Given the description of an element on the screen output the (x, y) to click on. 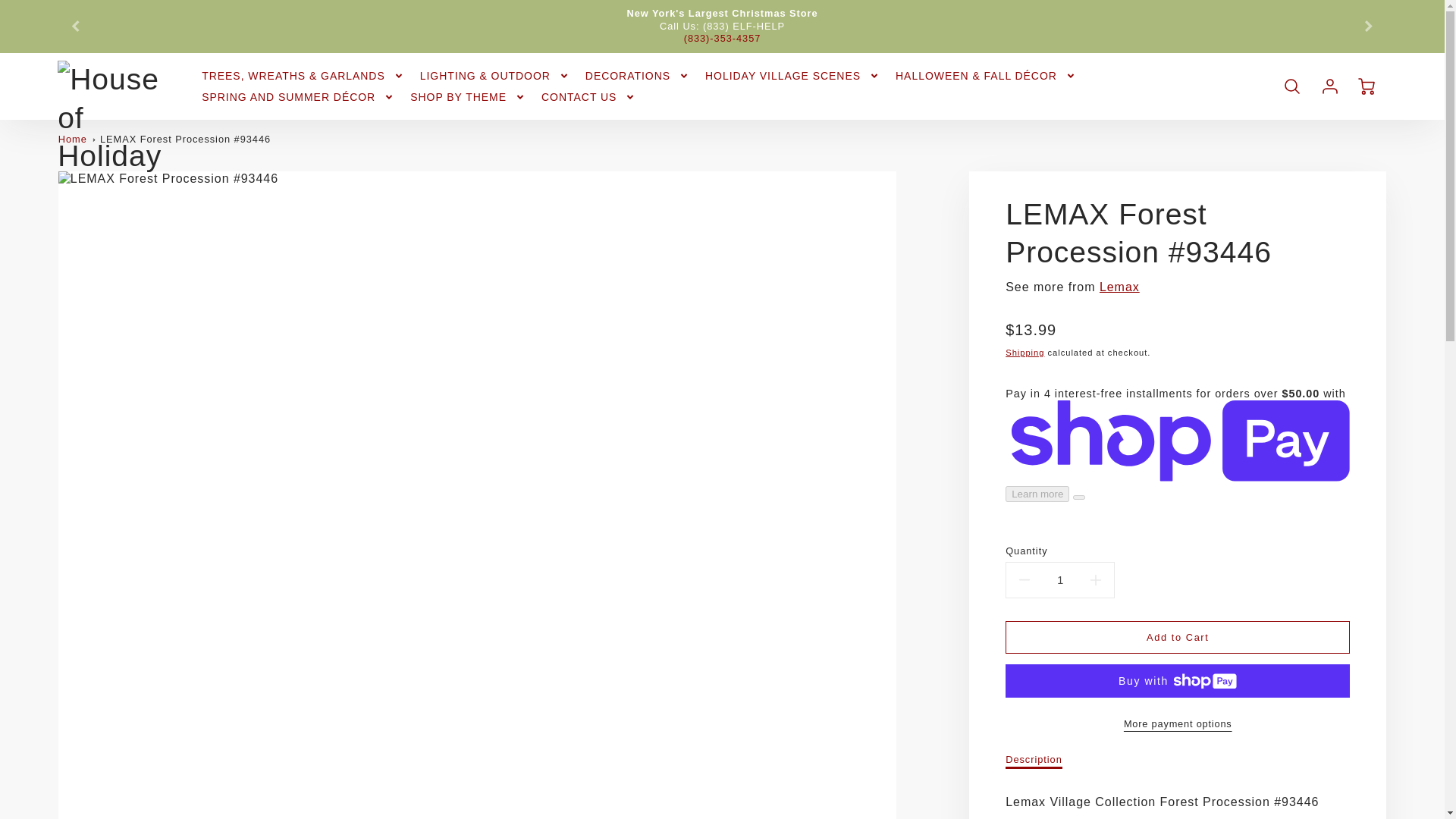
Lemax (1119, 286)
DECORATIONS (637, 75)
1 (1059, 580)
